Given the description of an element on the screen output the (x, y) to click on. 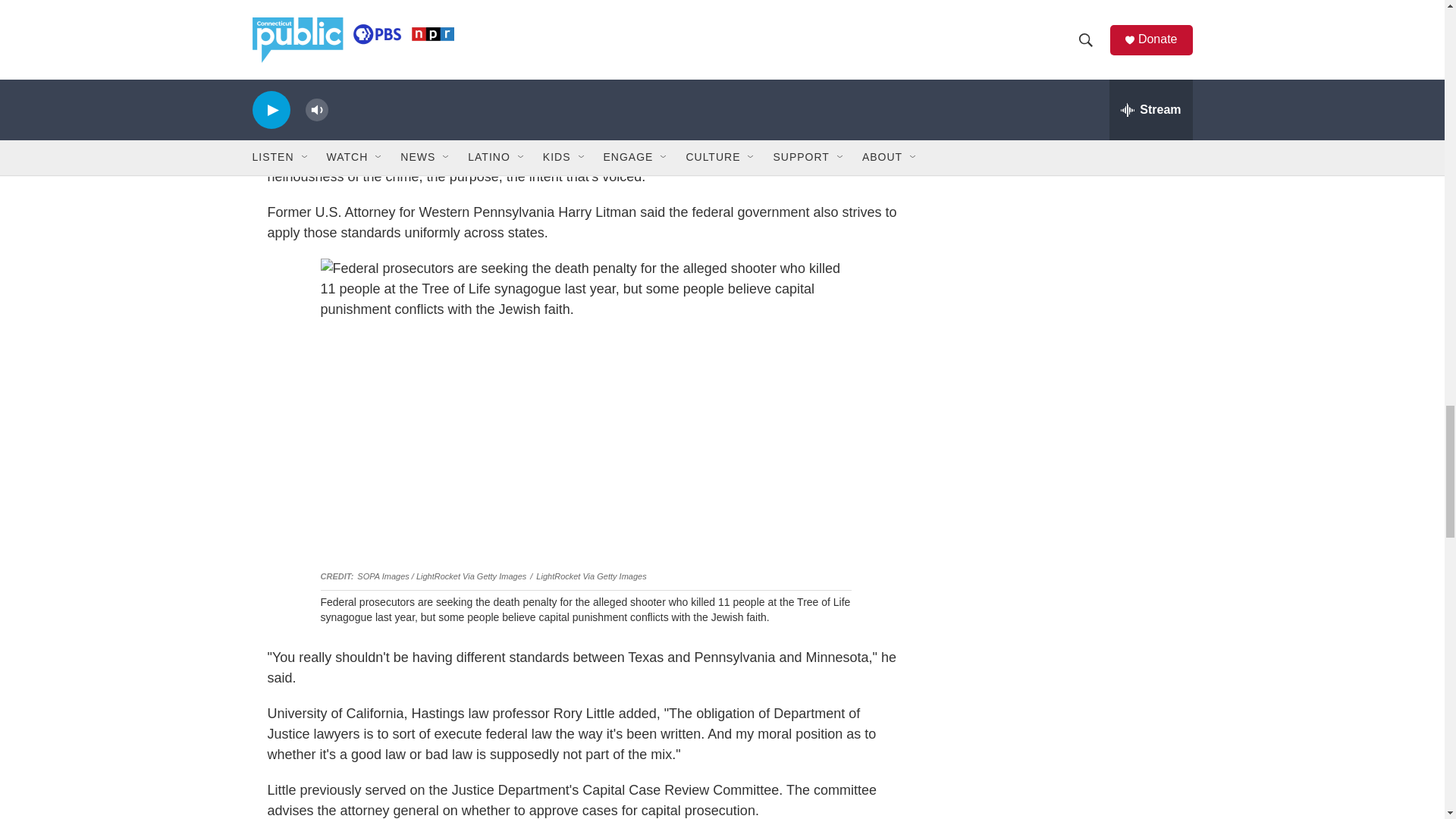
3rd party ad content (1062, 130)
3rd party ad content (1062, 2)
